Given the description of an element on the screen output the (x, y) to click on. 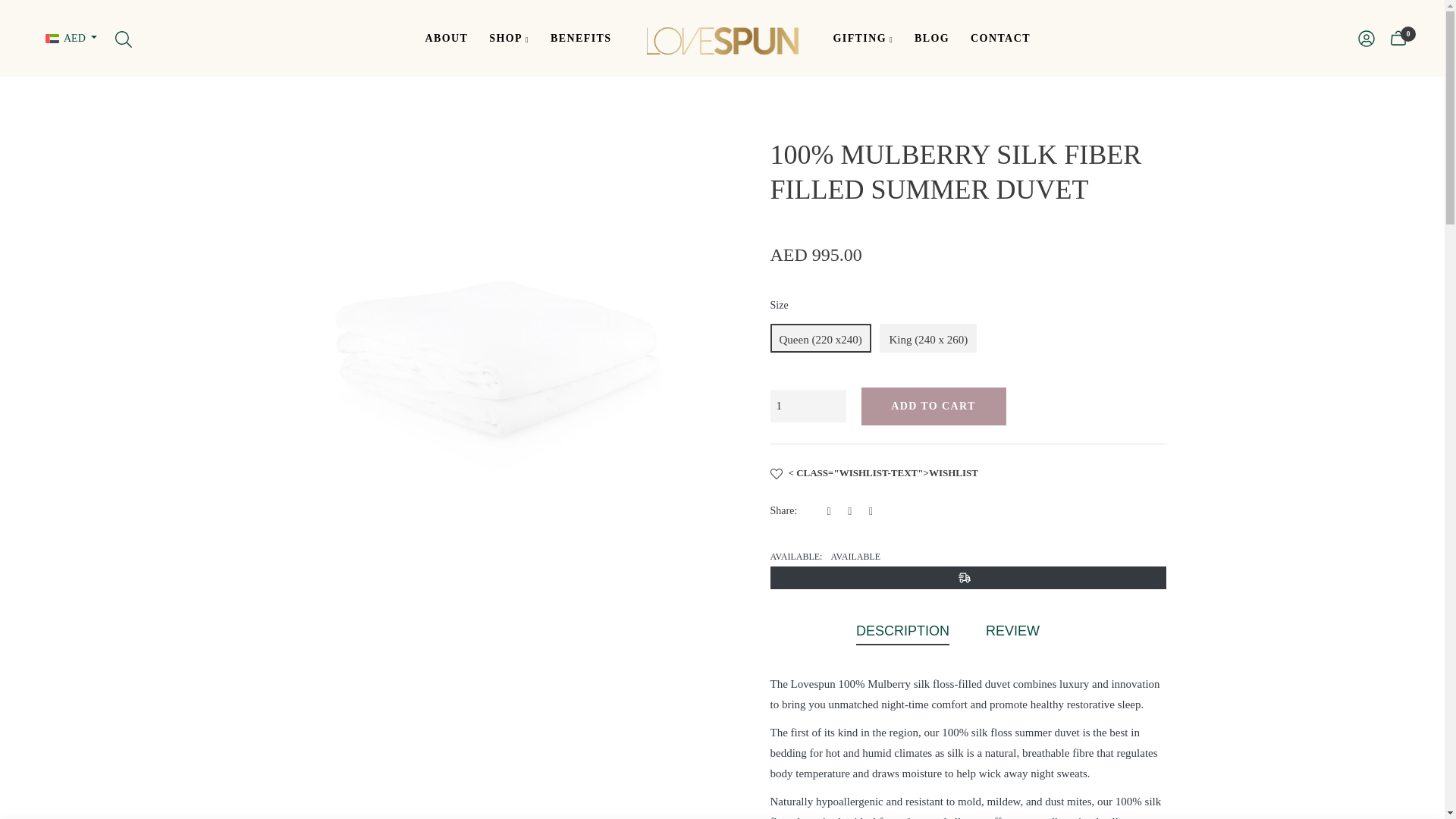
1 (807, 405)
Tweet on Twitter (854, 510)
GIFTING (863, 38)
CONTACT (1000, 38)
Wishlist (874, 472)
BENEFITS (580, 38)
Shopping Cart (1398, 38)
Currencies (71, 38)
Share on Facebook (833, 510)
